Given the description of an element on the screen output the (x, y) to click on. 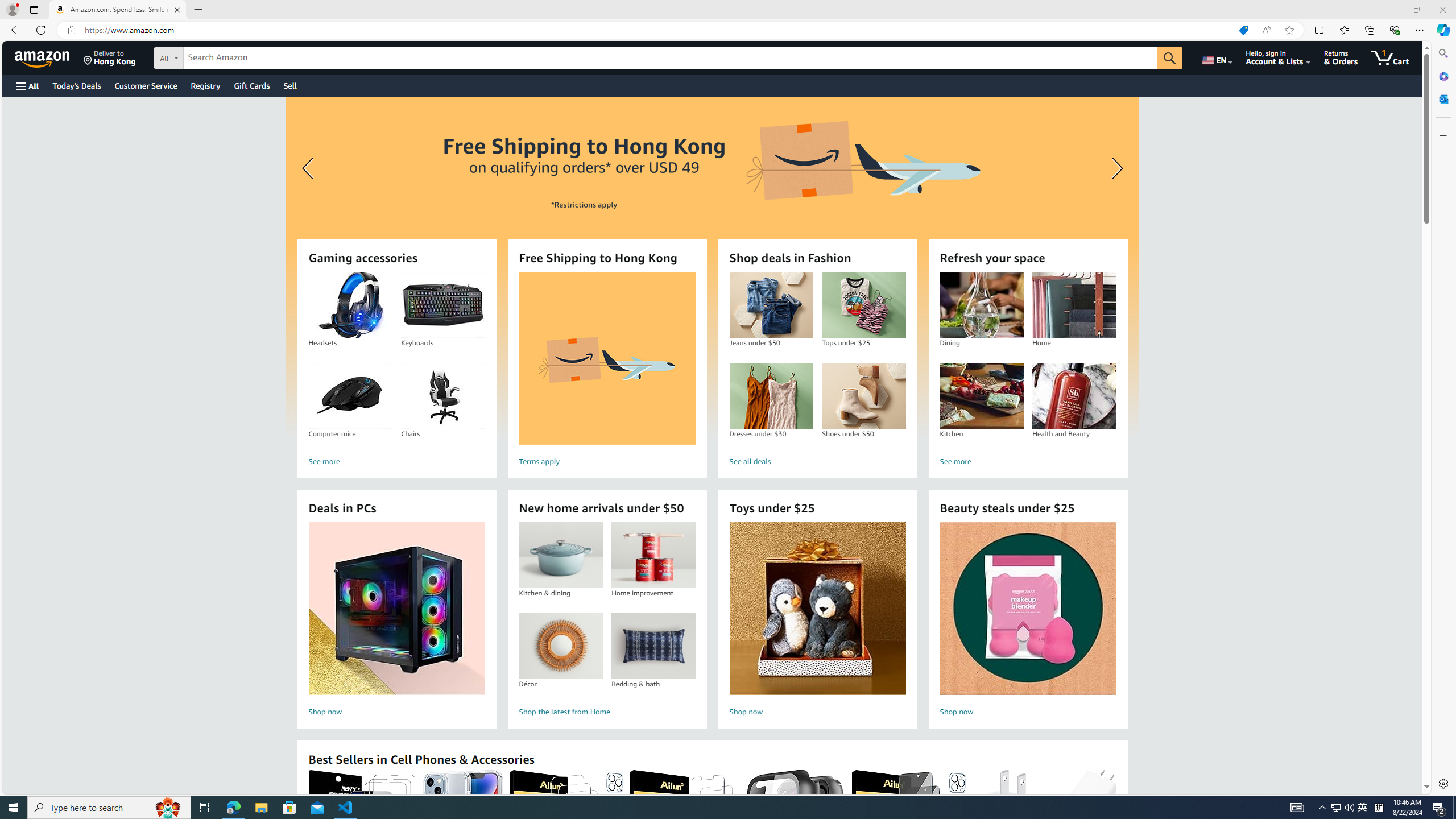
Kitchen (981, 395)
File Explorer (261, 807)
Next slide (1114, 168)
Tab actions menu (33, 9)
Free Shipping to Hong Kong Learn more (711, 267)
Browser essentials (1394, 29)
Beauty steals under $25 (1027, 608)
Toggle Secondary Side Bar (Ctrl+Alt+B) (1355, 9)
Headsets (350, 304)
Deals in PCs (395, 608)
Jeans under $50 (770, 304)
Manage (13, 769)
Action Center, 2 new notifications (1439, 807)
